Given the description of an element on the screen output the (x, y) to click on. 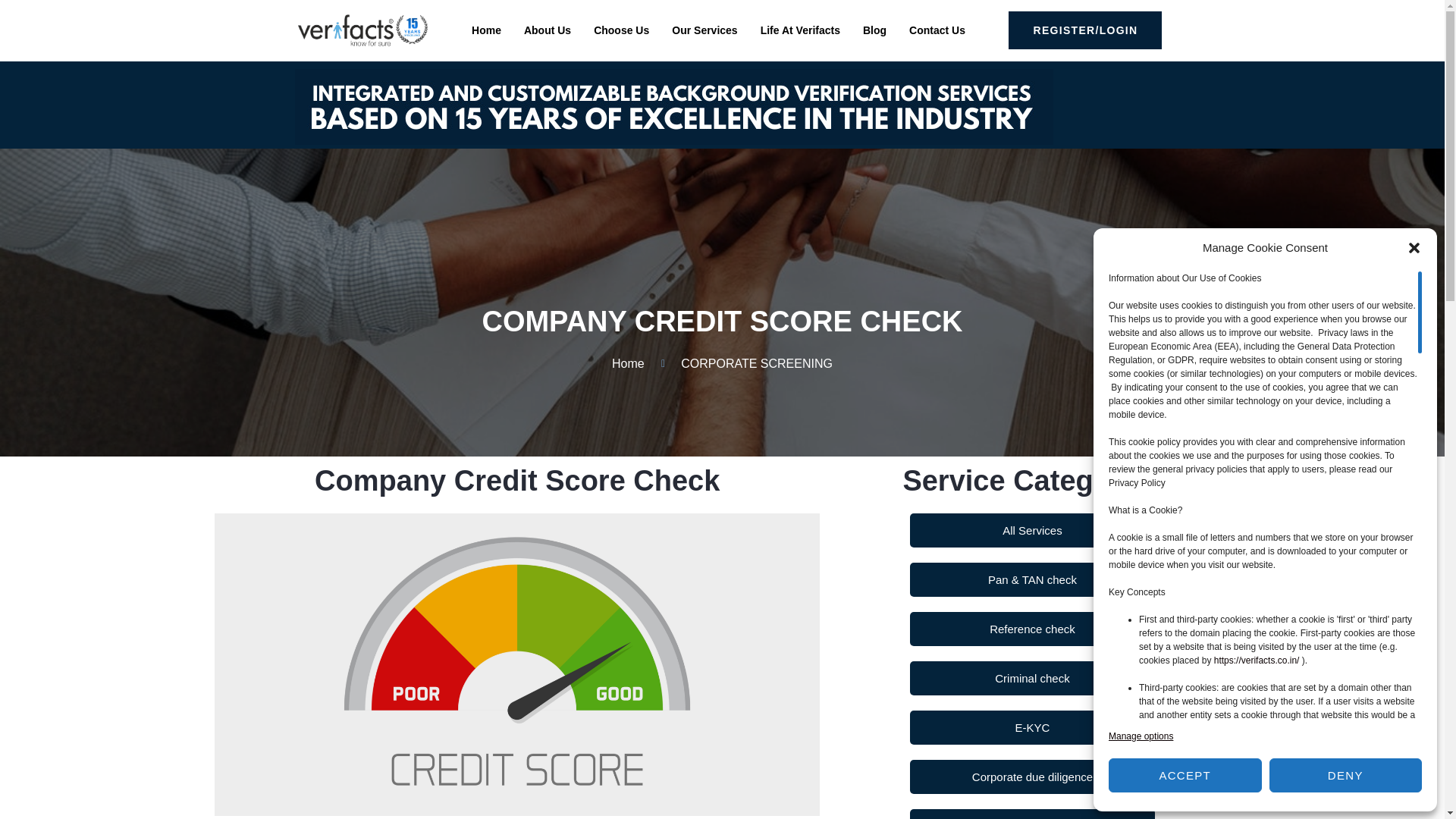
Court Record Check (1032, 814)
Reference check (1032, 628)
ACCEPT (1185, 775)
DENY (1345, 775)
Contact Us (937, 30)
Our Services (704, 30)
Life At Verifacts (800, 30)
Corporate due diligence (1032, 776)
All Services (1032, 530)
Criminal check (1032, 677)
